Given the description of an element on the screen output the (x, y) to click on. 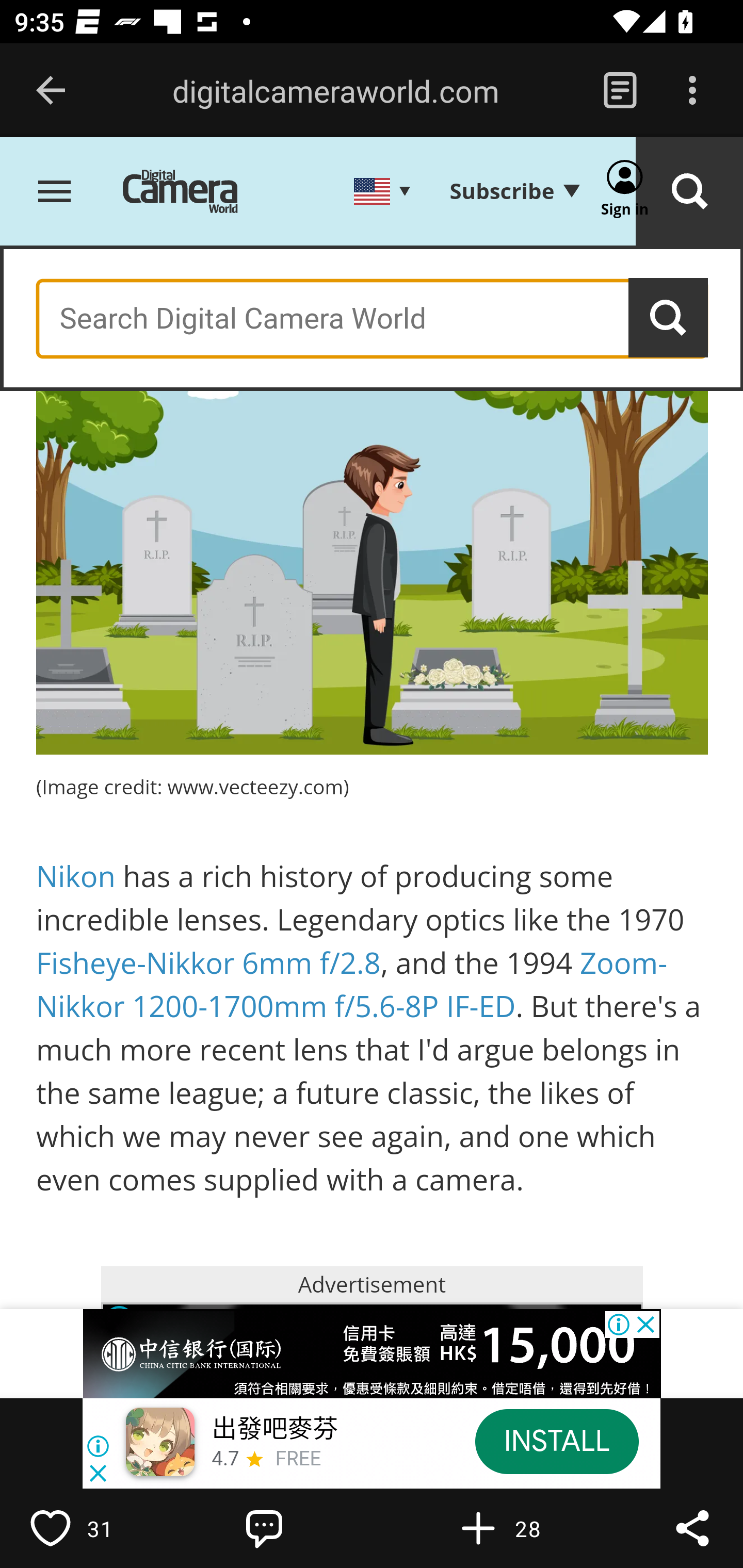
Back (50, 90)
Reader View (619, 90)
Options (692, 90)
Open menu (54, 192)
Digital Camera World (194, 192)
Sign in (625, 192)
Search (689, 192)
Subscribe (514, 191)
Search (668, 318)
Nikon (75, 877)
Fisheye-Nikkor 6mm f/2.8 (208, 963)
Zoom-Nikkor 1200-1700mm f/5.6-8P IF-ED (351, 985)
INSTALL (556, 1441)
出發吧麥芬 (274, 1429)
4.7 (224, 1459)
FREE (298, 1459)
Like 31 (93, 1528)
Write a comment… (307, 1528)
Flip into Magazine 28 (521, 1528)
Share (692, 1528)
